Given the description of an element on the screen output the (x, y) to click on. 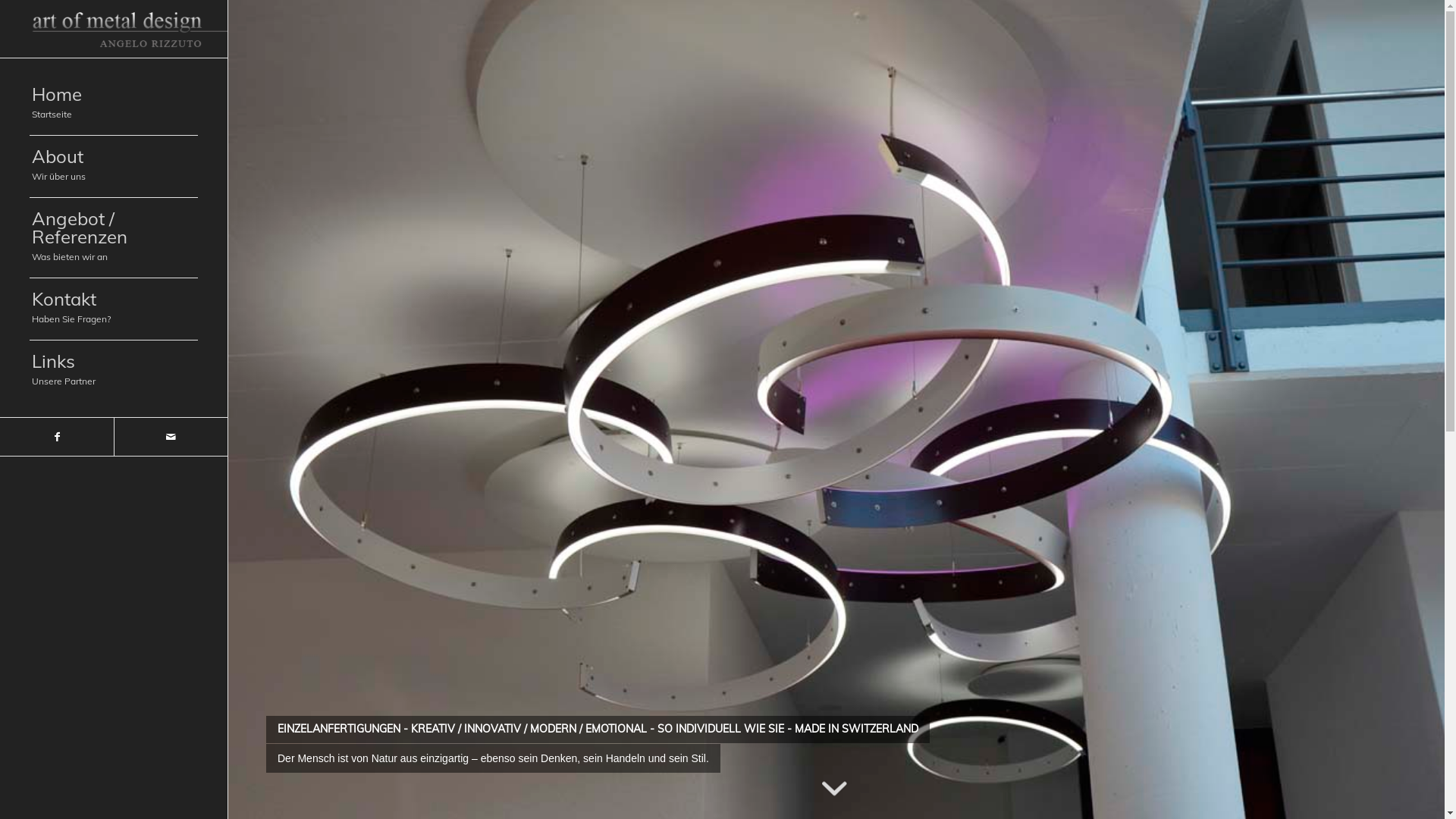
Facebook Element type: hover (56, 436)
Links
Unsere Partner Element type: text (113, 370)
Home
Startseite Element type: text (113, 104)
Kontakt
Haben Sie Fragen? Element type: text (113, 309)
Mail Element type: hover (170, 436)
Angebot / Referenzen
Was bieten wir an Element type: text (113, 237)
